Given the description of an element on the screen output the (x, y) to click on. 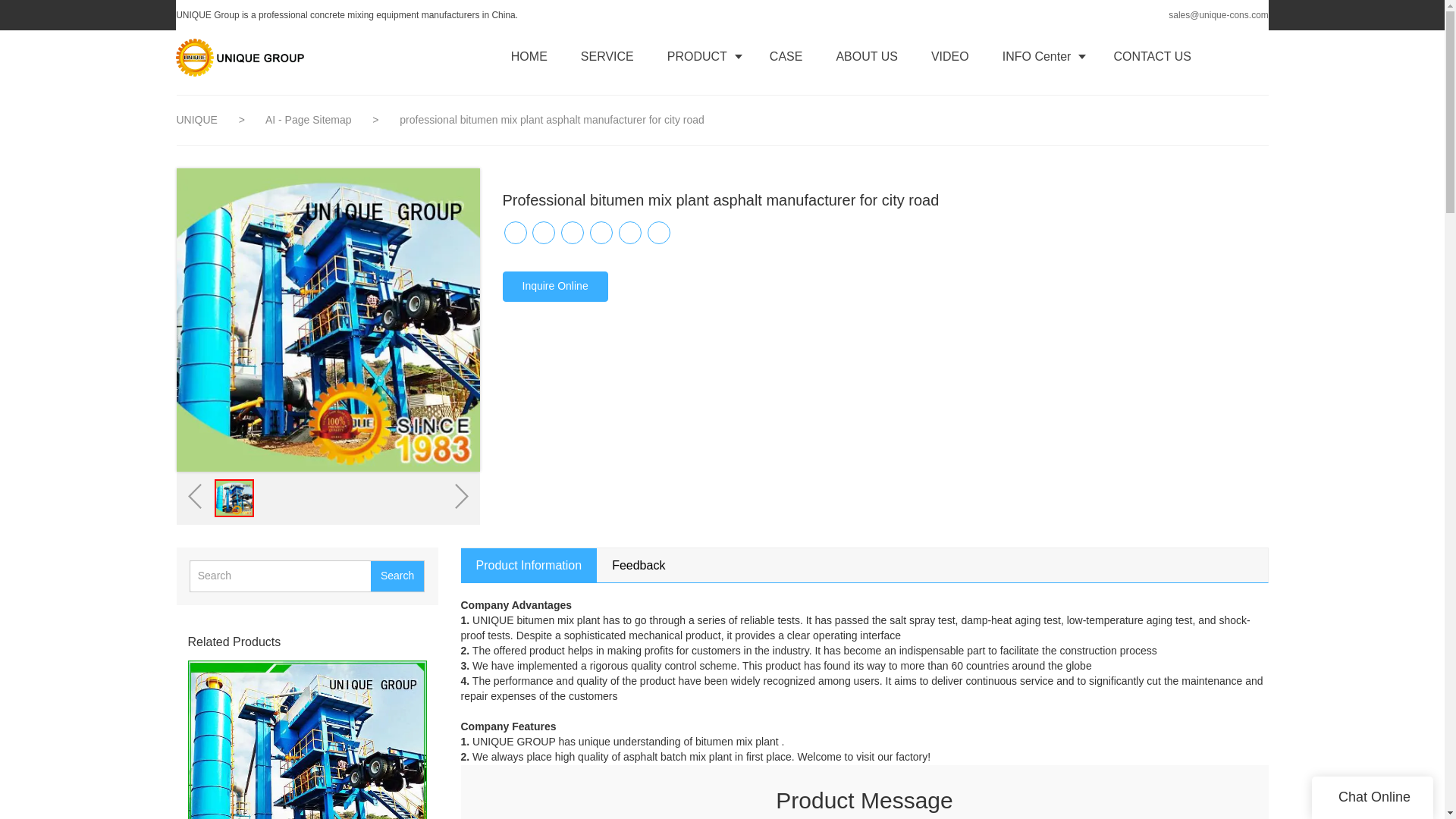
Search (397, 576)
AI - Page Sitemap (309, 119)
ABOUT US (866, 56)
CASE (785, 56)
PRODUCT (701, 56)
INFO Center (1041, 56)
VIDEO (949, 56)
UNIQUE (197, 119)
HOME (529, 56)
Inquire Online (554, 286)
SERVICE (607, 56)
CONTACT US (1152, 56)
